Given the description of an element on the screen output the (x, y) to click on. 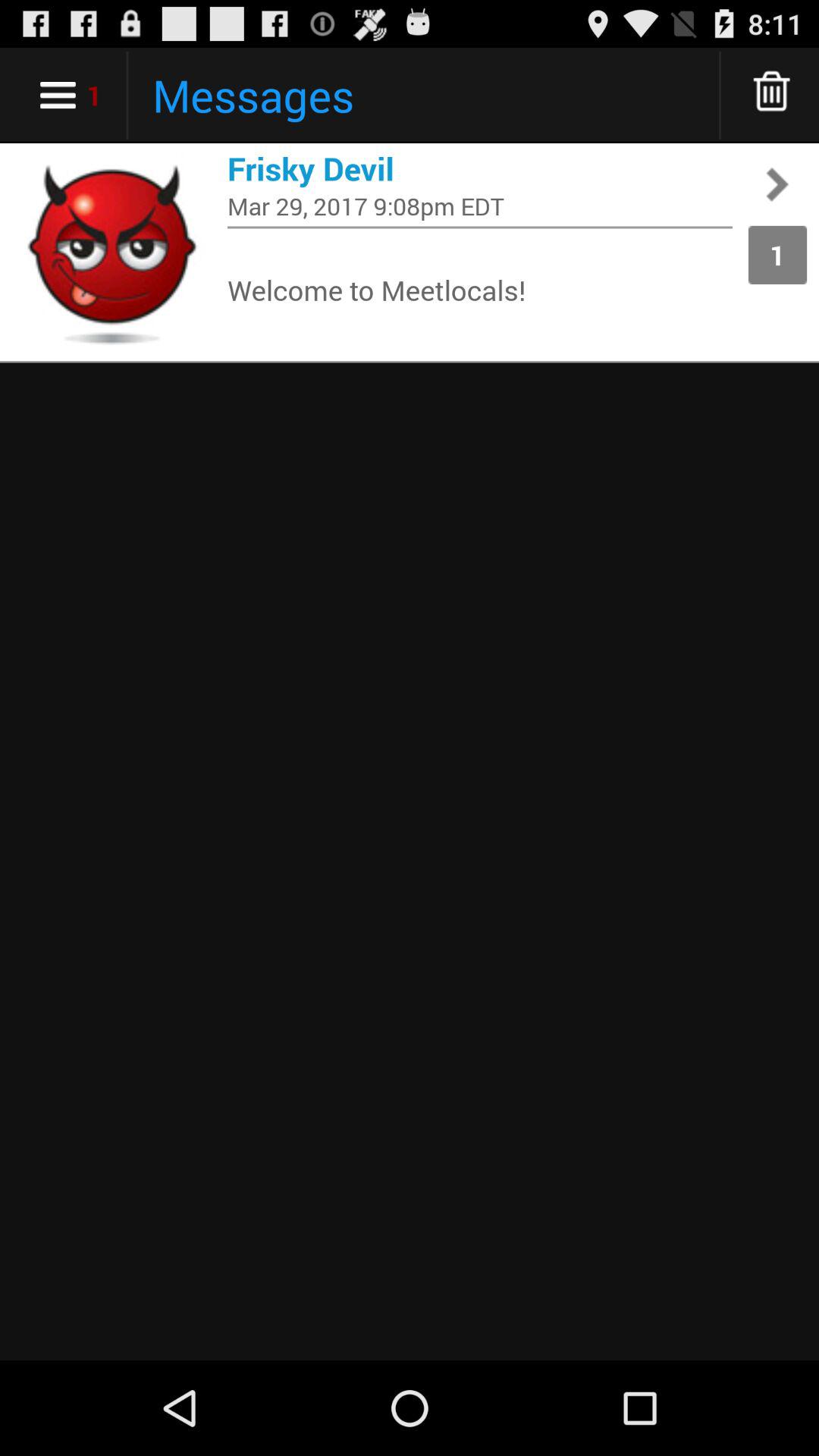
press app to the left of 1 app (479, 289)
